Given the description of an element on the screen output the (x, y) to click on. 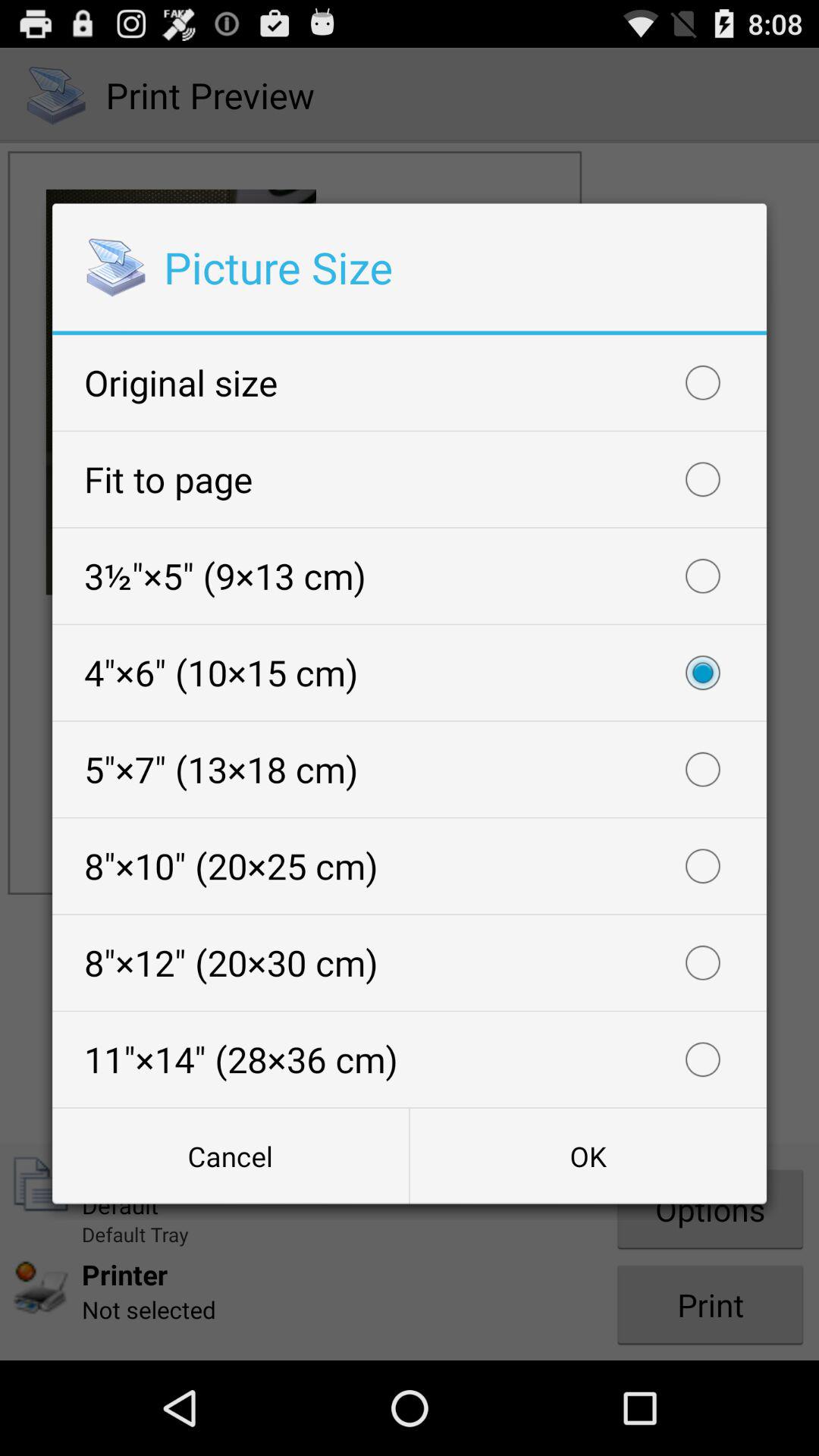
open cancel icon (230, 1156)
